Given the description of an element on the screen output the (x, y) to click on. 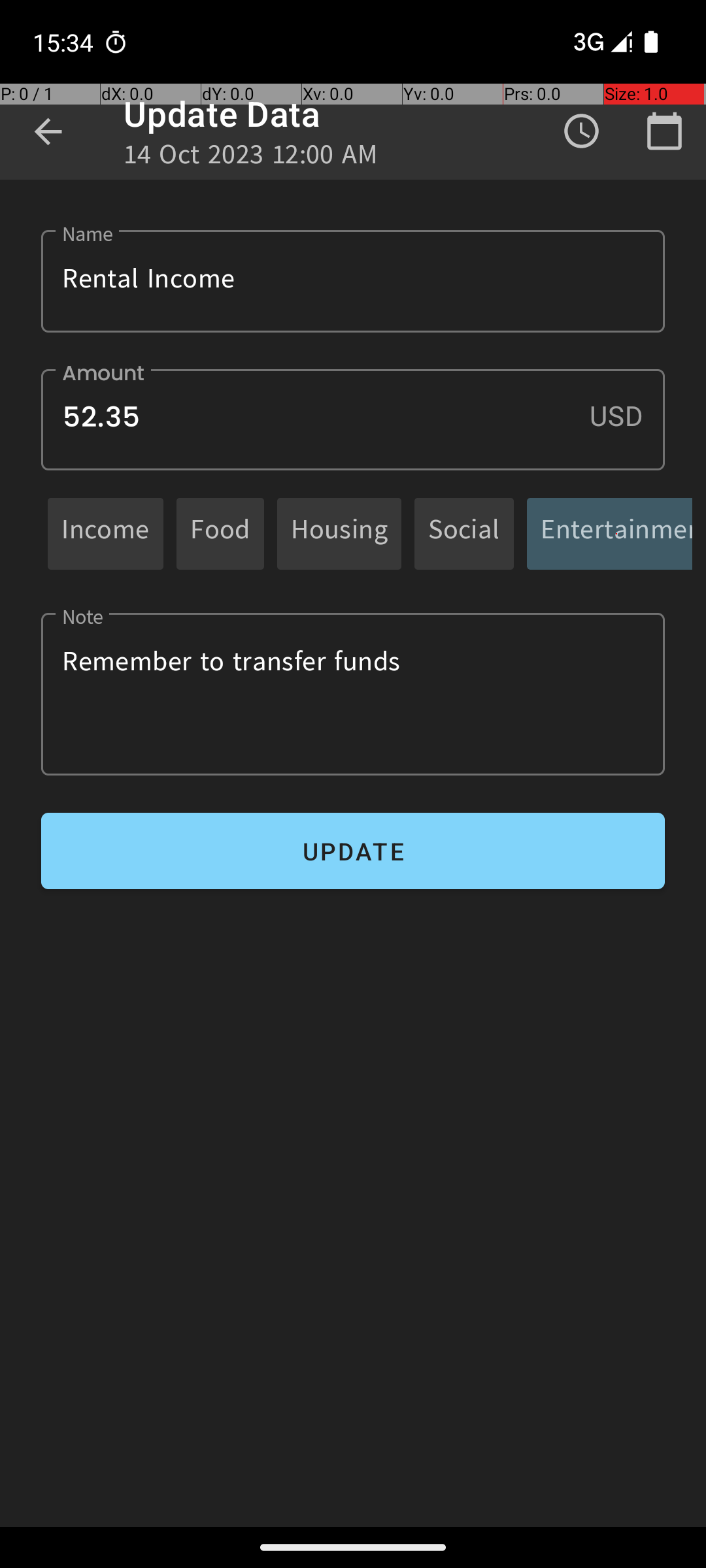
14 Oct 2023 12:00 AM Element type: android.widget.TextView (250, 157)
52.35 Element type: android.widget.EditText (352, 419)
